Given the description of an element on the screen output the (x, y) to click on. 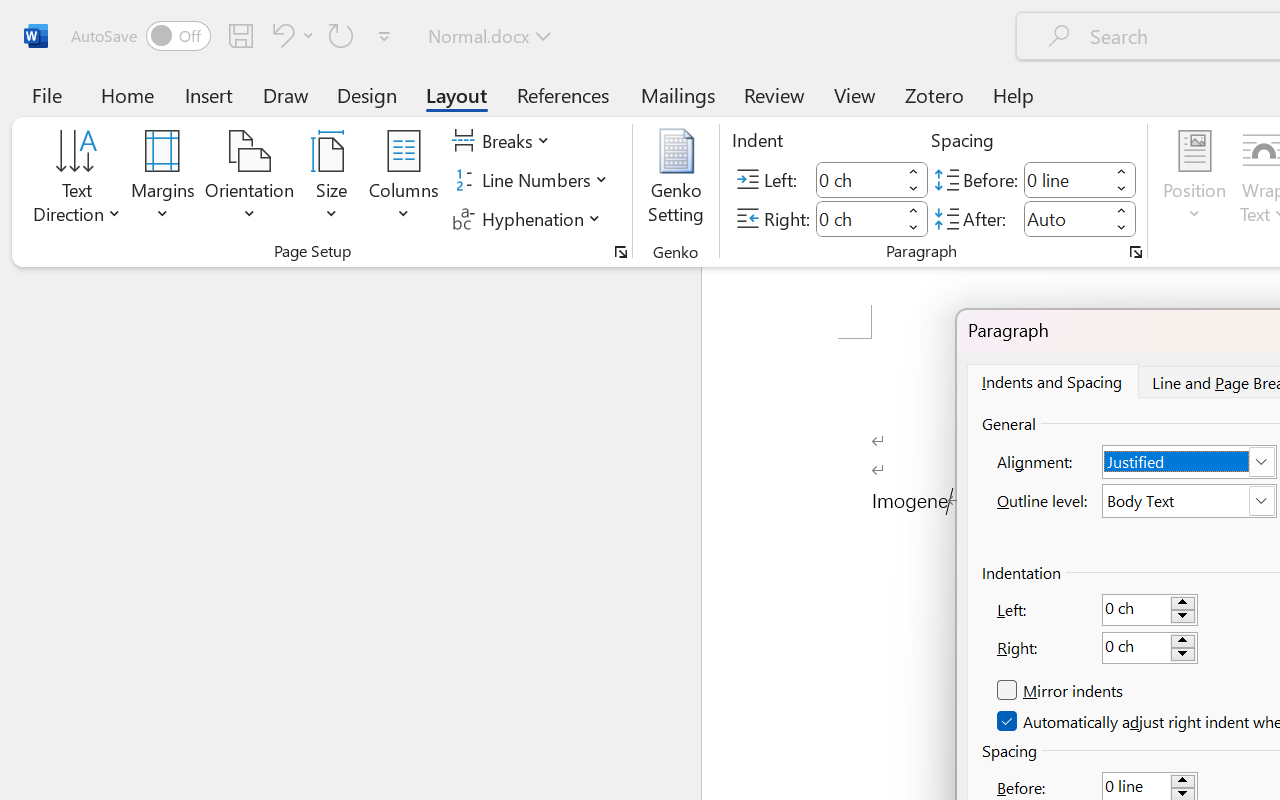
Repeat Paragraph Formatting (341, 35)
Breaks (504, 141)
